Given the description of an element on the screen output the (x, y) to click on. 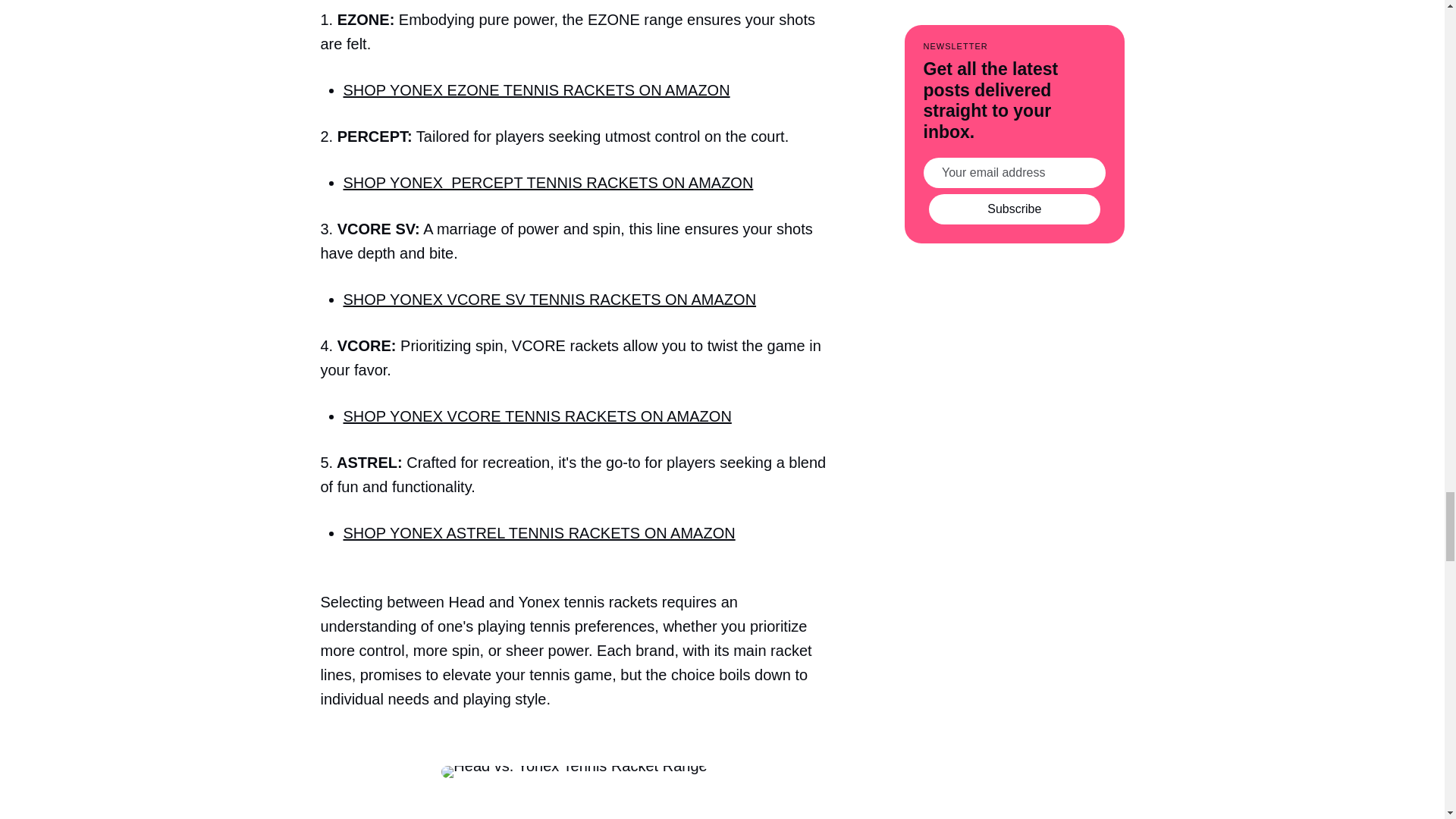
SHOP YONEX ASTREL TENNIS RACKETS ON AMAZON (538, 532)
SHOP YONEX VCORE SV TENNIS RACKETS ON AMAZON (548, 299)
SHOP YONEX EZONE TENNIS RACKETS ON AMAZON (535, 89)
SHOP YONEX  PERCEPT TENNIS RACKETS ON AMAZON (547, 182)
SHOP YONEX VCORE TENNIS RACKETS ON AMAZON (536, 416)
